Given the description of an element on the screen output the (x, y) to click on. 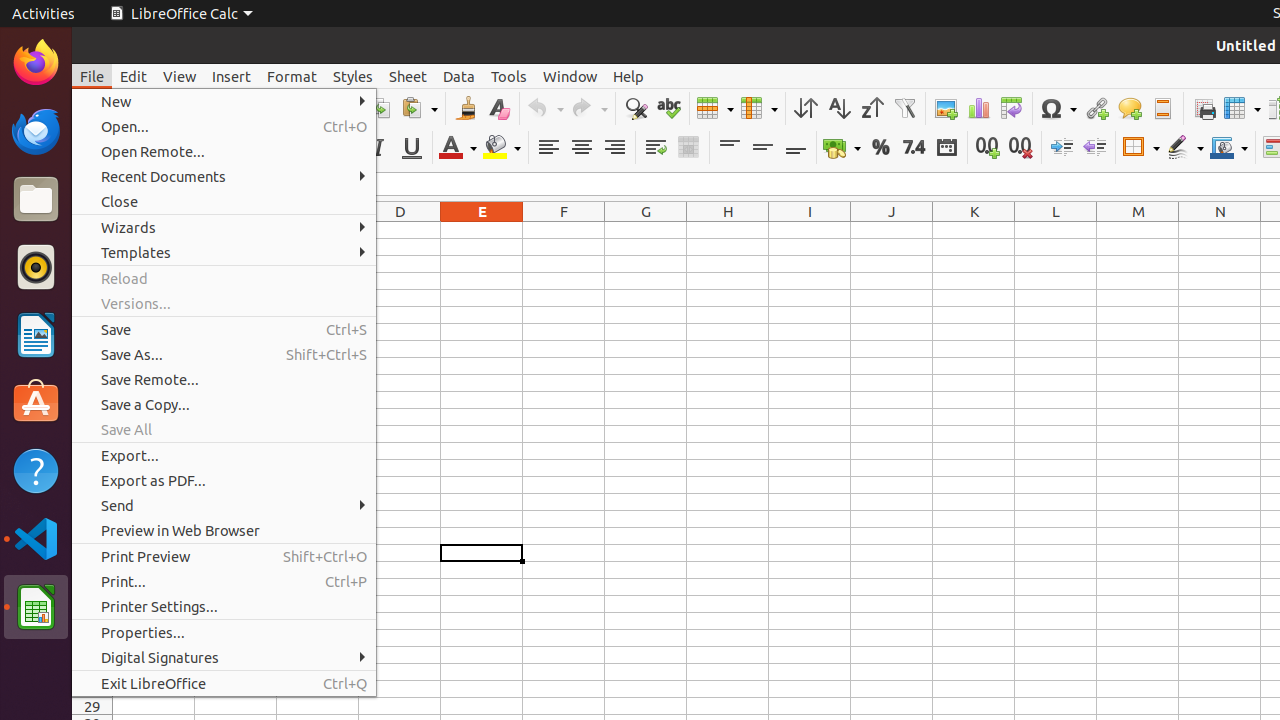
Delete Decimal Place Element type: push-button (1020, 147)
Align Top Element type: push-button (729, 147)
Headers and Footers Element type: push-button (1162, 108)
Preview in Web Browser Element type: menu-item (224, 530)
F1 Element type: table-cell (564, 230)
